Given the description of an element on the screen output the (x, y) to click on. 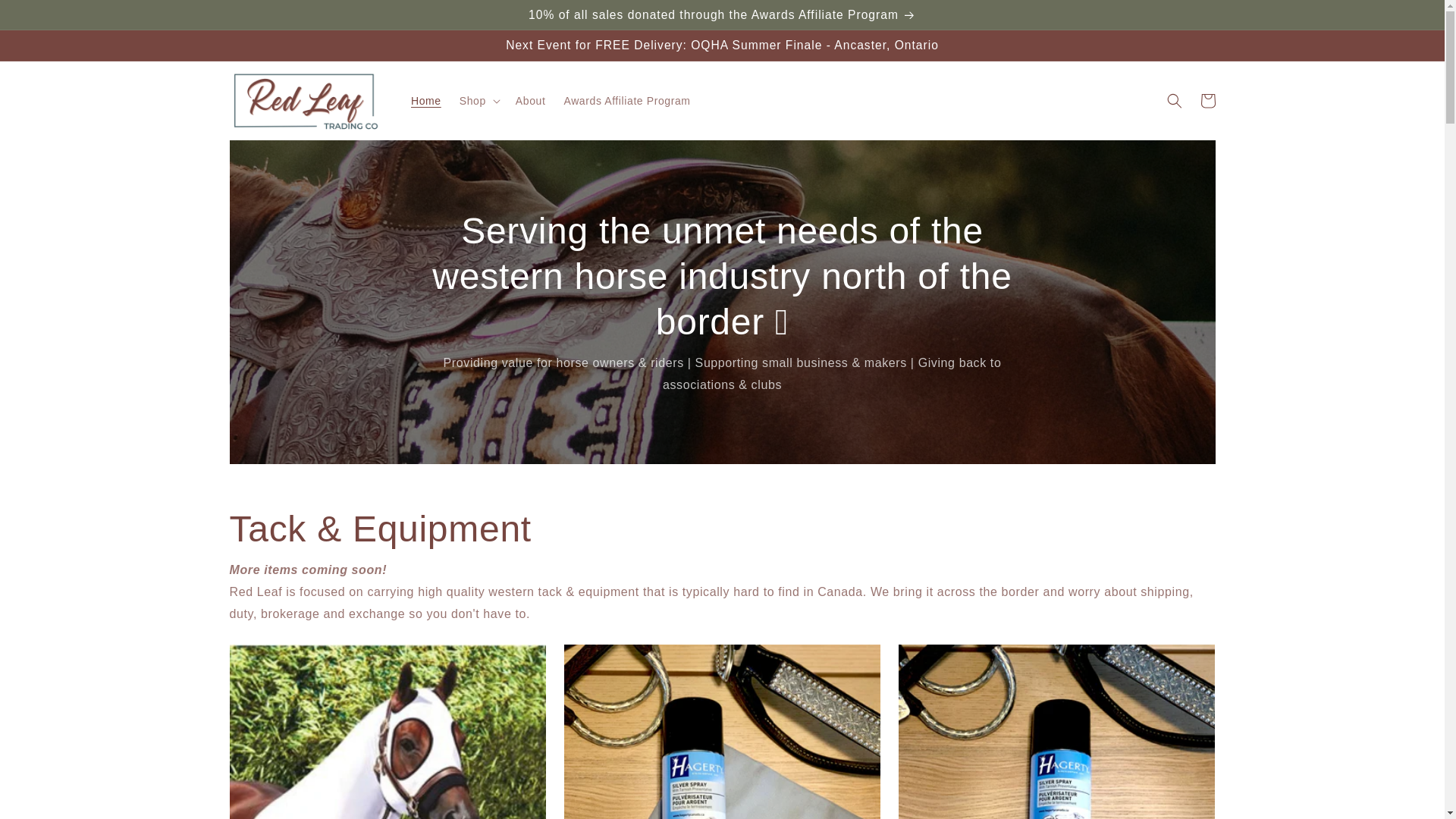
About (530, 101)
Awards Affiliate Program (626, 101)
Skip to content (45, 16)
Cart (1207, 100)
Home (425, 101)
